Given the description of an element on the screen output the (x, y) to click on. 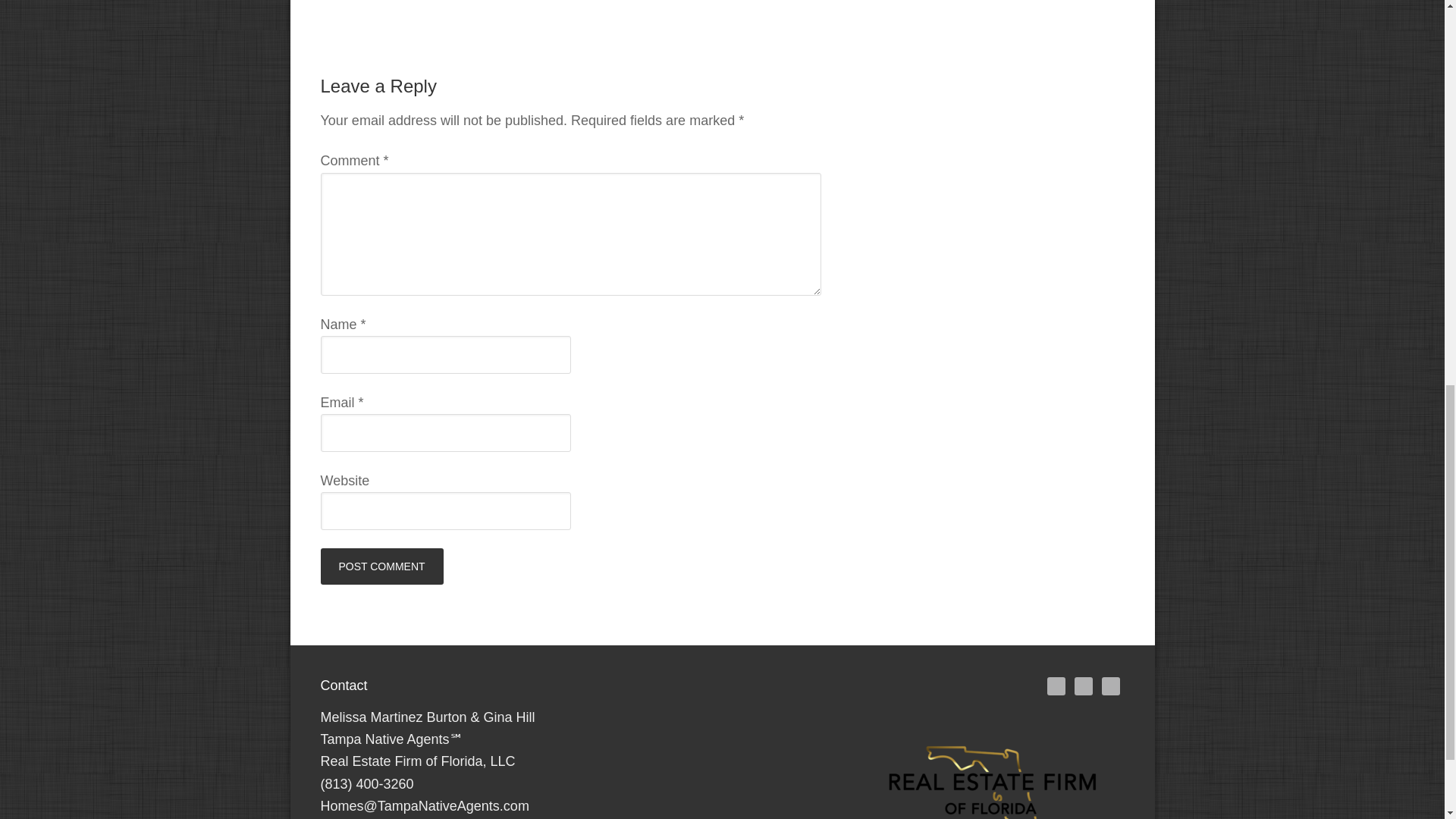
Post Comment (381, 565)
Post Comment (381, 565)
